Given the description of an element on the screen output the (x, y) to click on. 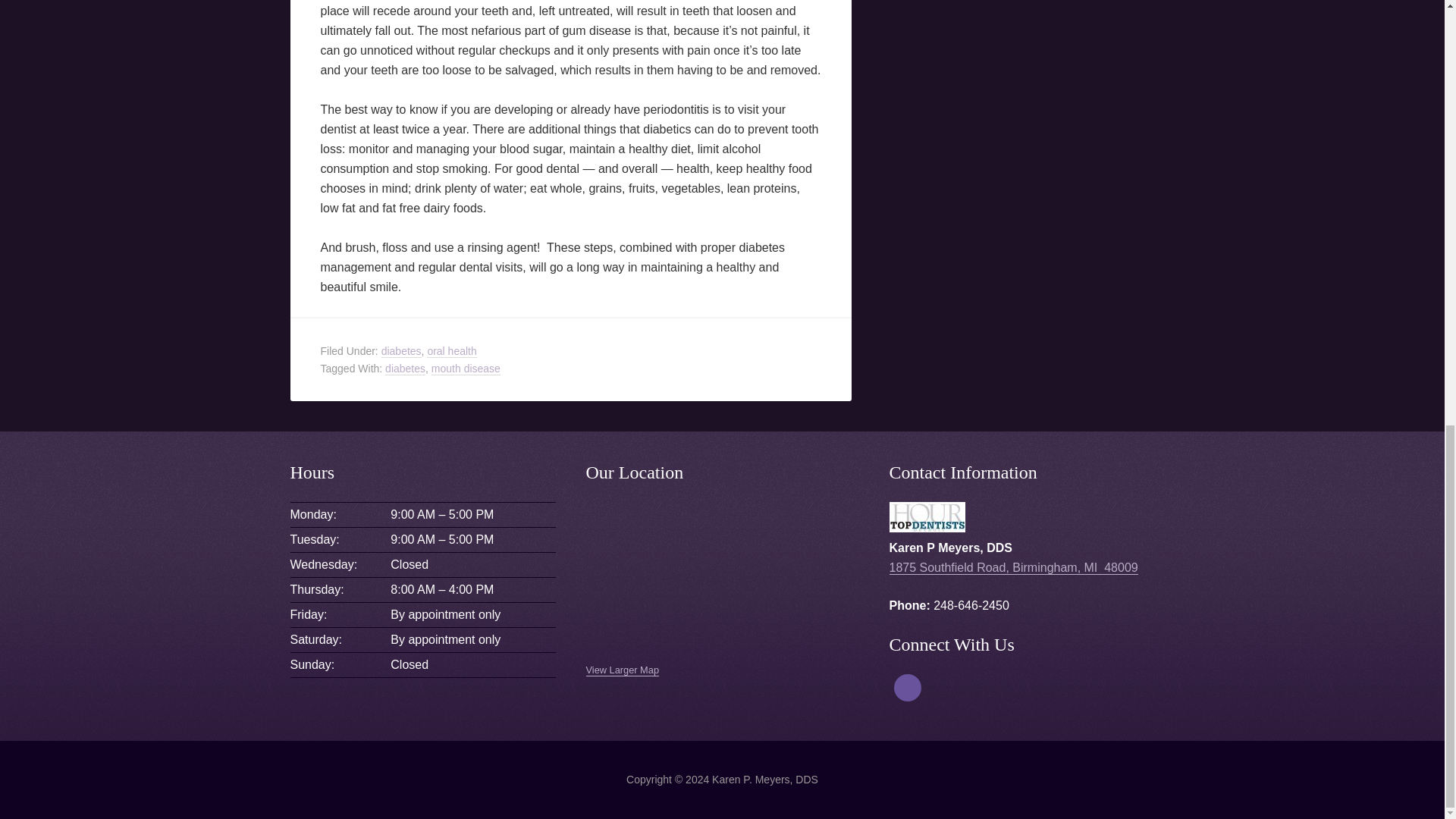
1875 Southfield Road, Birmingham, MI  48009 (1012, 567)
diabetes (401, 350)
View Larger Map (622, 670)
mouth disease (465, 367)
oral health (451, 350)
diabetes (405, 367)
